Given the description of an element on the screen output the (x, y) to click on. 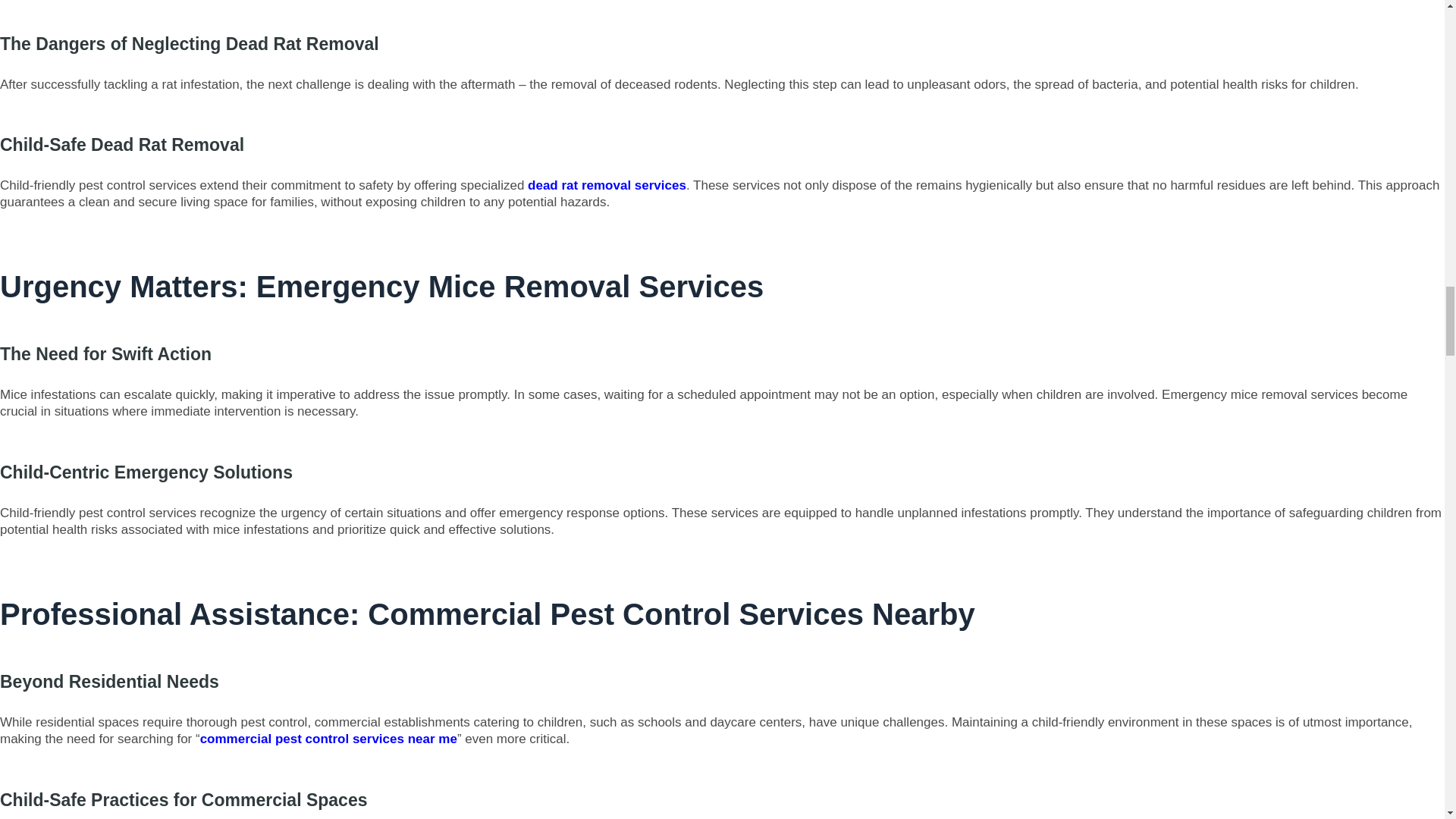
dead rat removal services (606, 185)
commercial pest control services near me (328, 739)
